Given the description of an element on the screen output the (x, y) to click on. 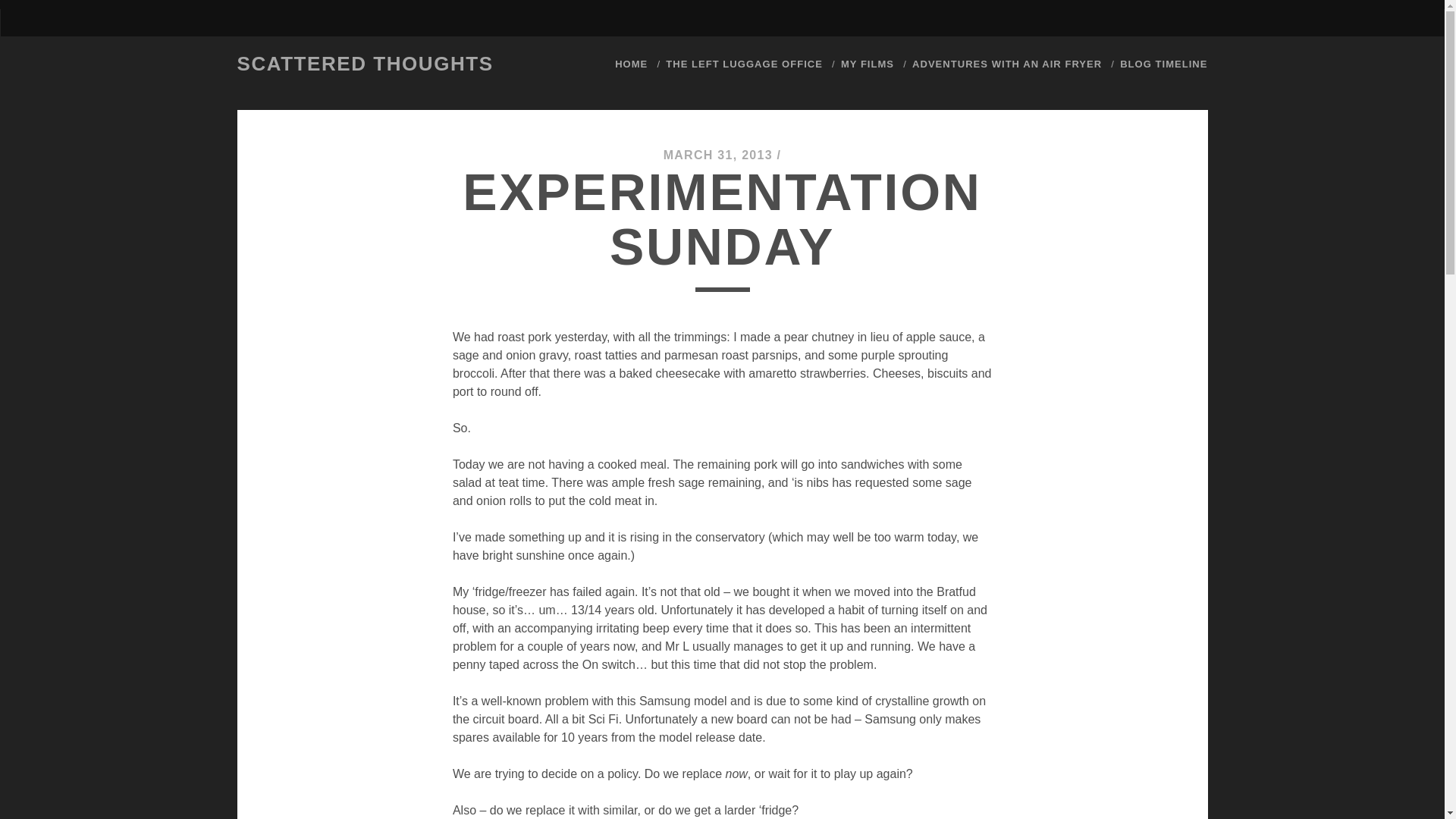
glyphicons-home (630, 64)
BLOG TIMELINE (1163, 64)
ADVENTURES WITH AN AIR FRYER (1007, 64)
THE LEFT LUGGAGE OFFICE (743, 64)
SCATTERED THOUGHTS (364, 63)
MY FILMS (867, 64)
HOME (630, 64)
glyphicon glyphicon-time (1163, 64)
